Given the description of an element on the screen output the (x, y) to click on. 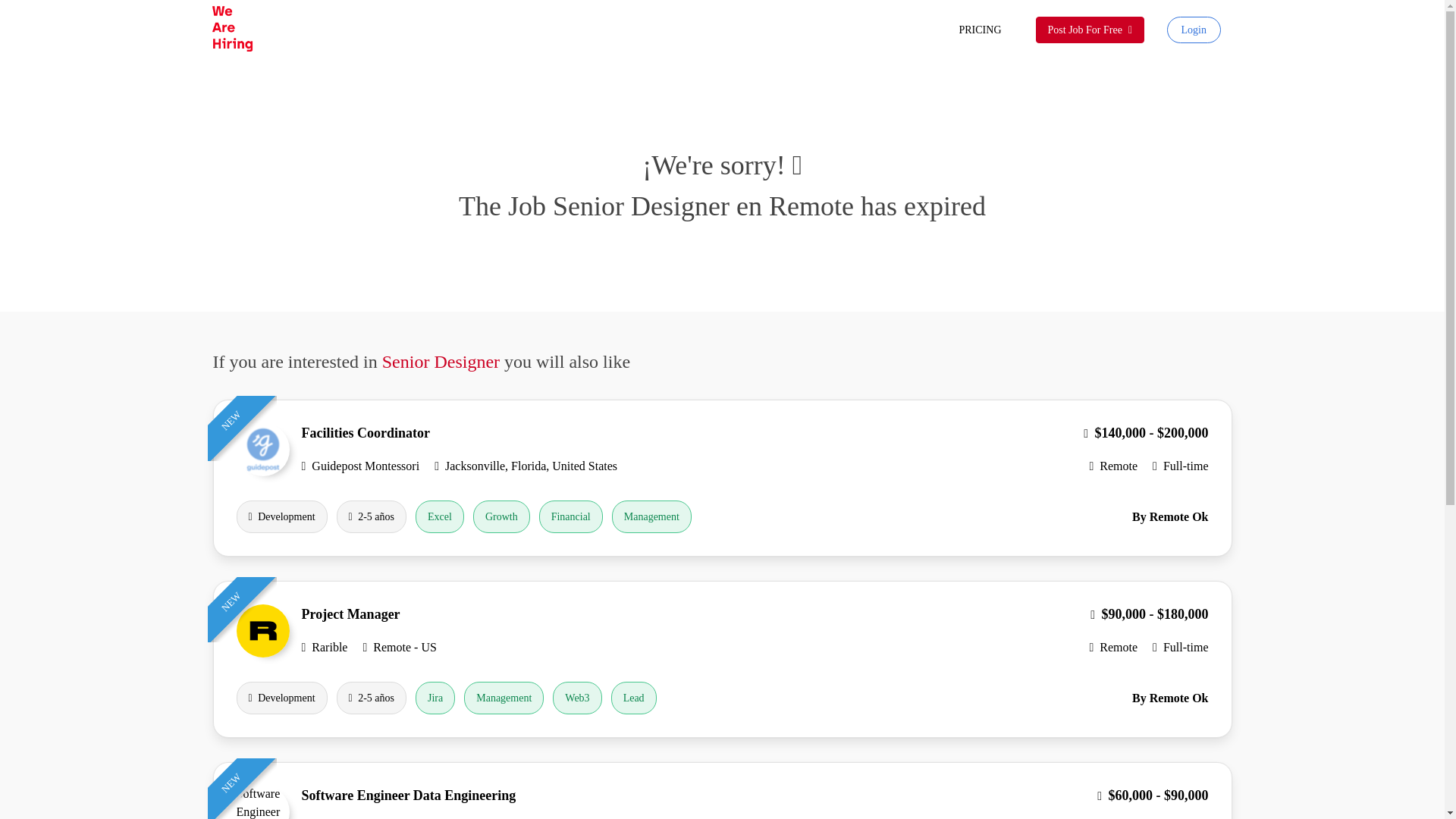
Login (1193, 29)
Post Job For Free (1089, 29)
PRICING (980, 29)
